Given the description of an element on the screen output the (x, y) to click on. 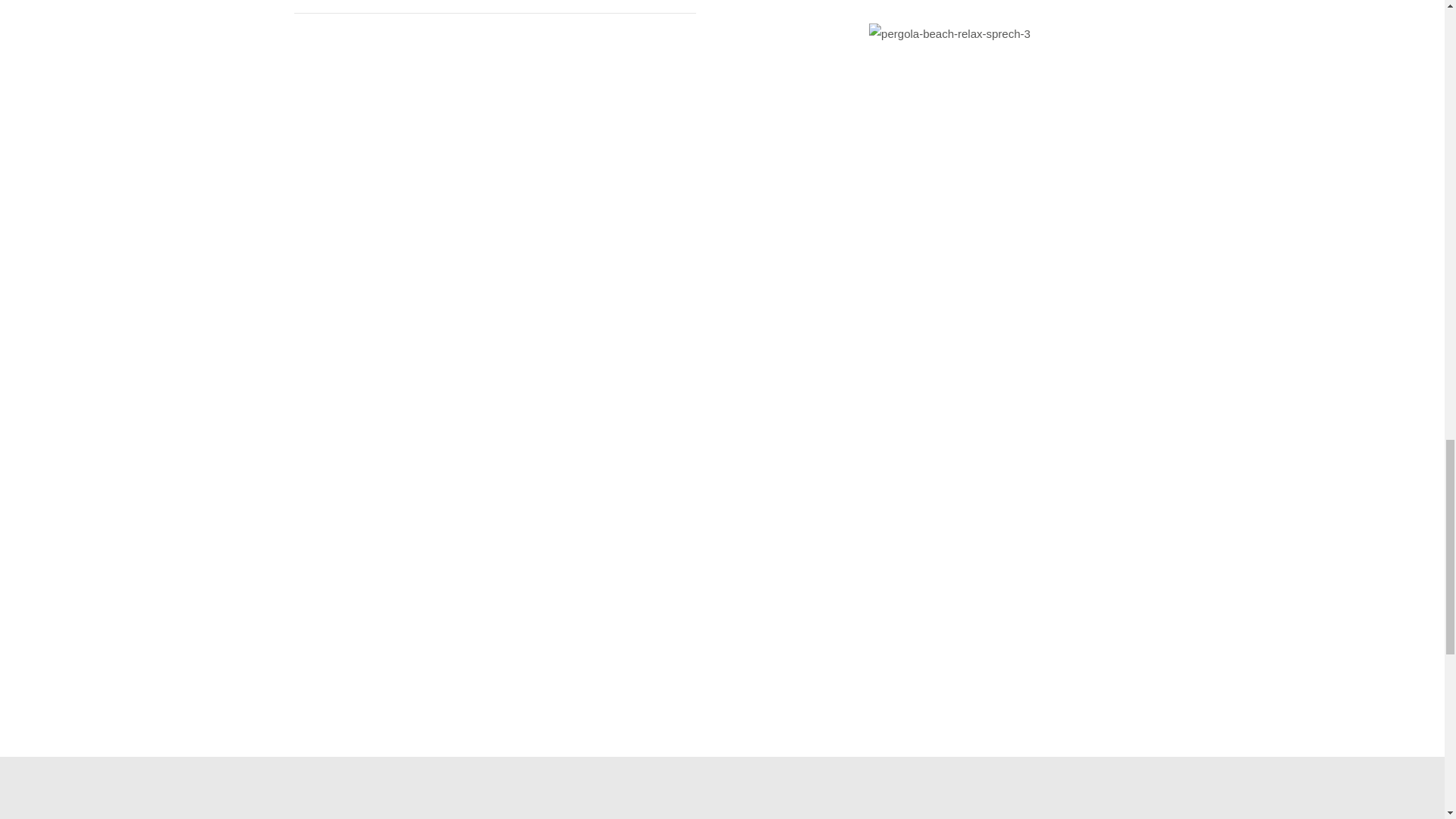
pergola-beach-relax-sprech-3 (949, 33)
